Given the description of an element on the screen output the (x, y) to click on. 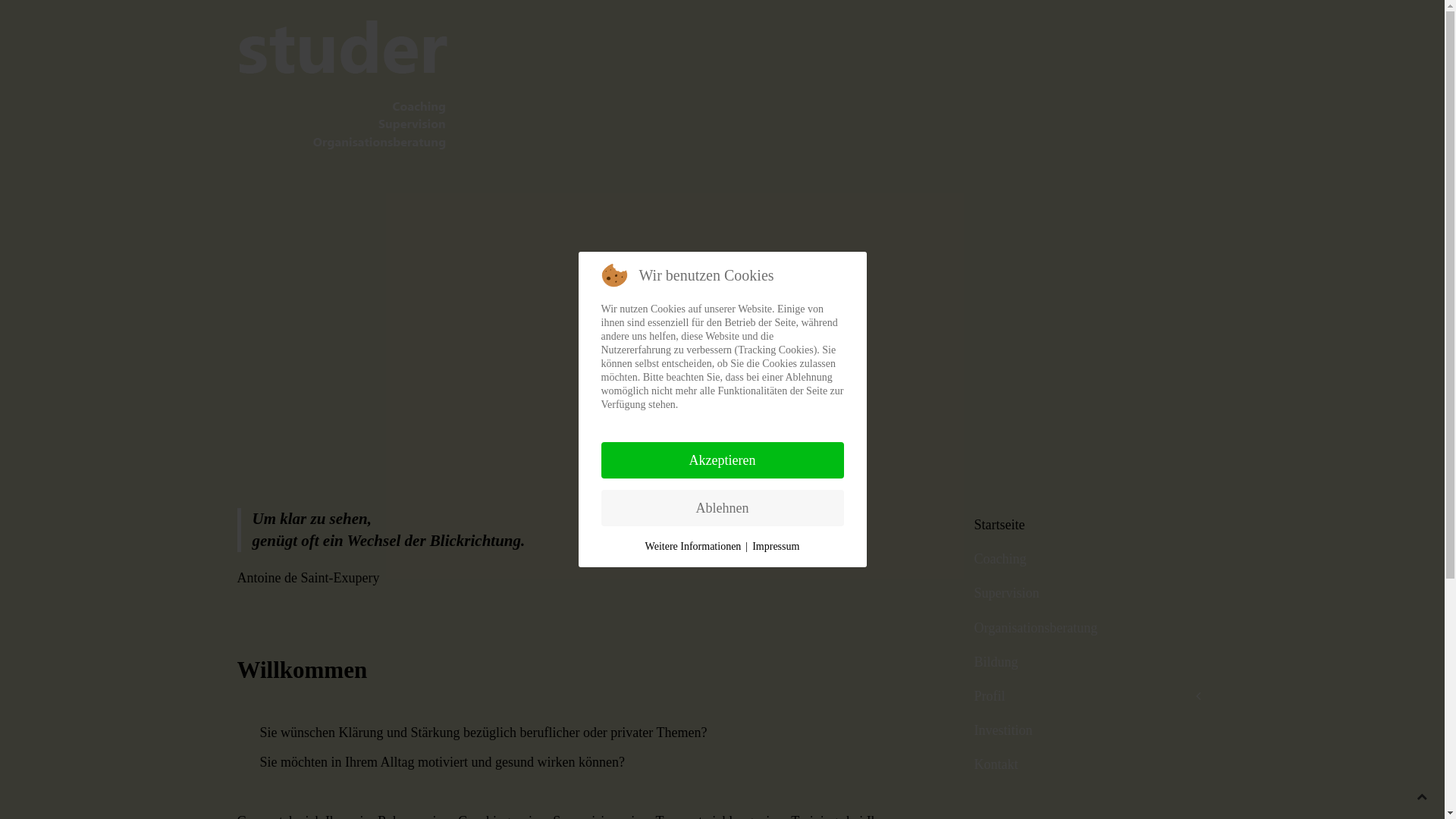
Impressum Element type: text (775, 546)
Coaching Element type: text (1082, 559)
Kontakt Element type: text (1082, 764)
Ablehnen Element type: text (721, 507)
Bildung Element type: text (1082, 662)
Profil Element type: text (1082, 696)
Investition Element type: text (1082, 730)
Supervision Element type: text (1082, 593)
Akzeptieren Element type: text (721, 460)
Startseite Element type: text (1082, 525)
Organisationsberatung Element type: text (1082, 628)
Weitere Informationen Element type: text (693, 546)
